Given the description of an element on the screen output the (x, y) to click on. 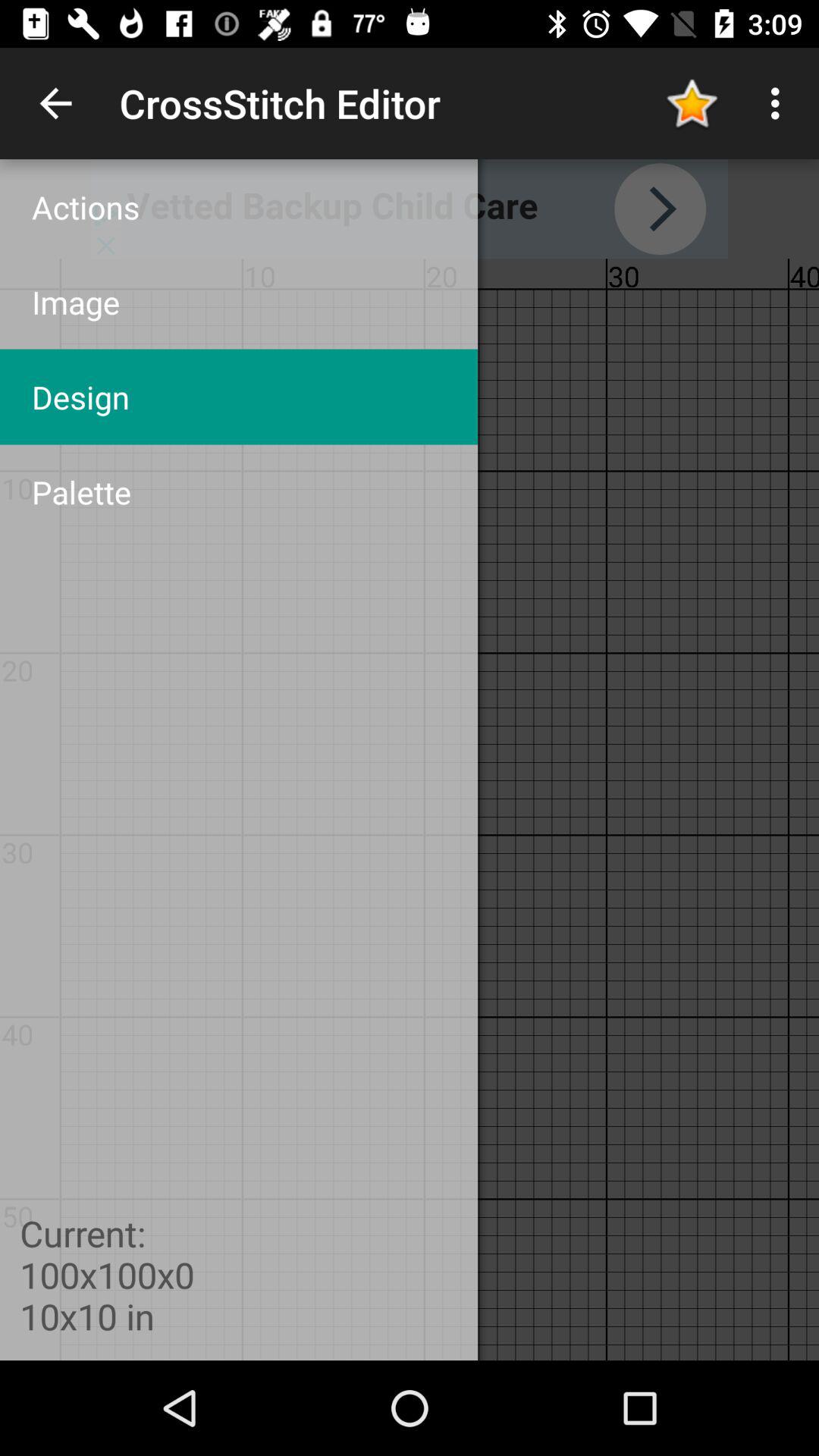
to see more (409, 208)
